Given the description of an element on the screen output the (x, y) to click on. 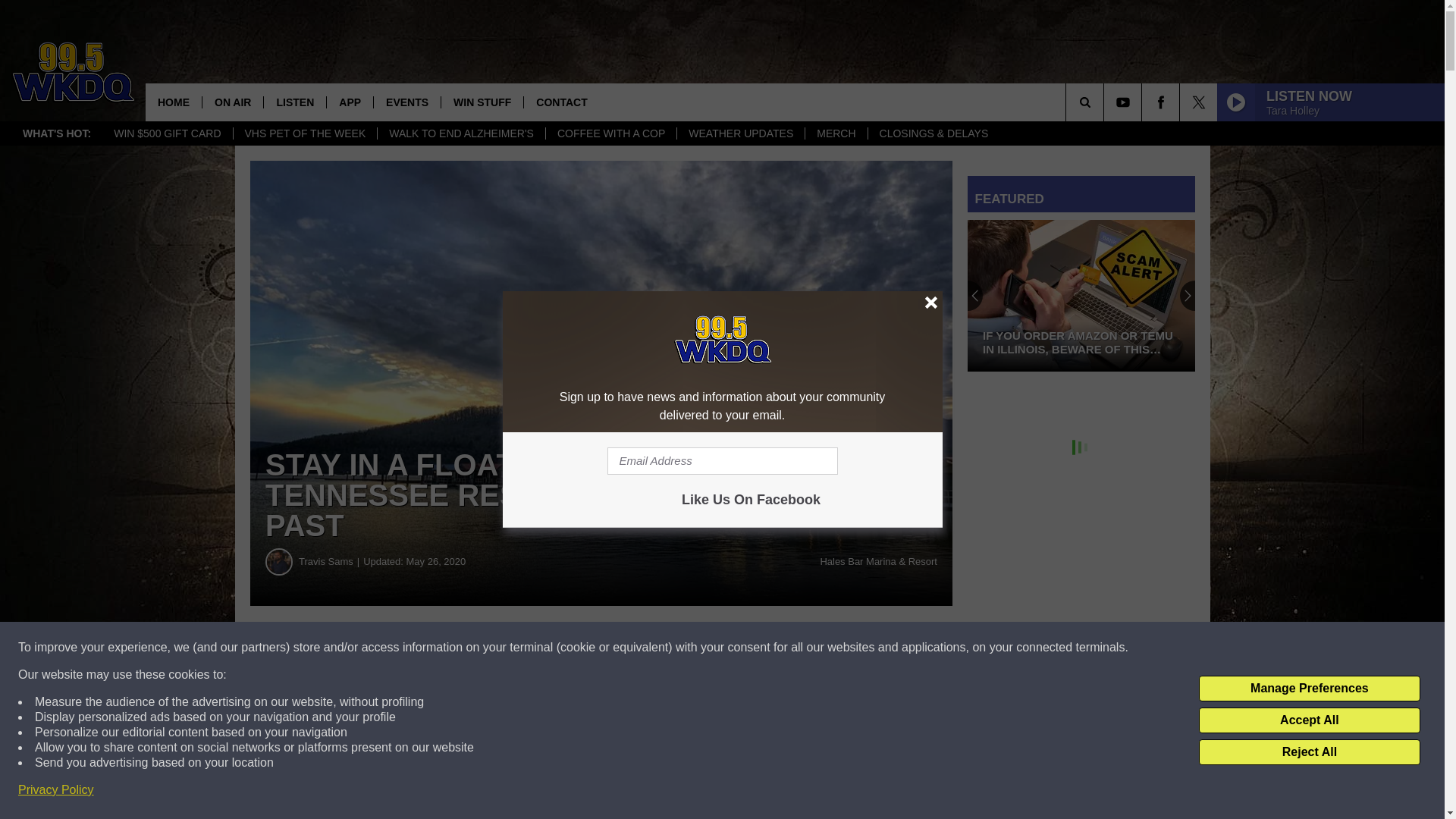
Share on Facebook (460, 647)
Manage Preferences (1309, 688)
Email Address (722, 461)
Reject All (1309, 751)
APP (349, 102)
COFFEE WITH A COP (610, 133)
ON AIR (232, 102)
HOME (173, 102)
SEARCH (1106, 102)
WHAT'S HOT: (56, 133)
EVENTS (406, 102)
Privacy Policy (55, 789)
Share on Twitter (741, 647)
Accept All (1309, 720)
WEATHER UPDATES (741, 133)
